Given the description of an element on the screen output the (x, y) to click on. 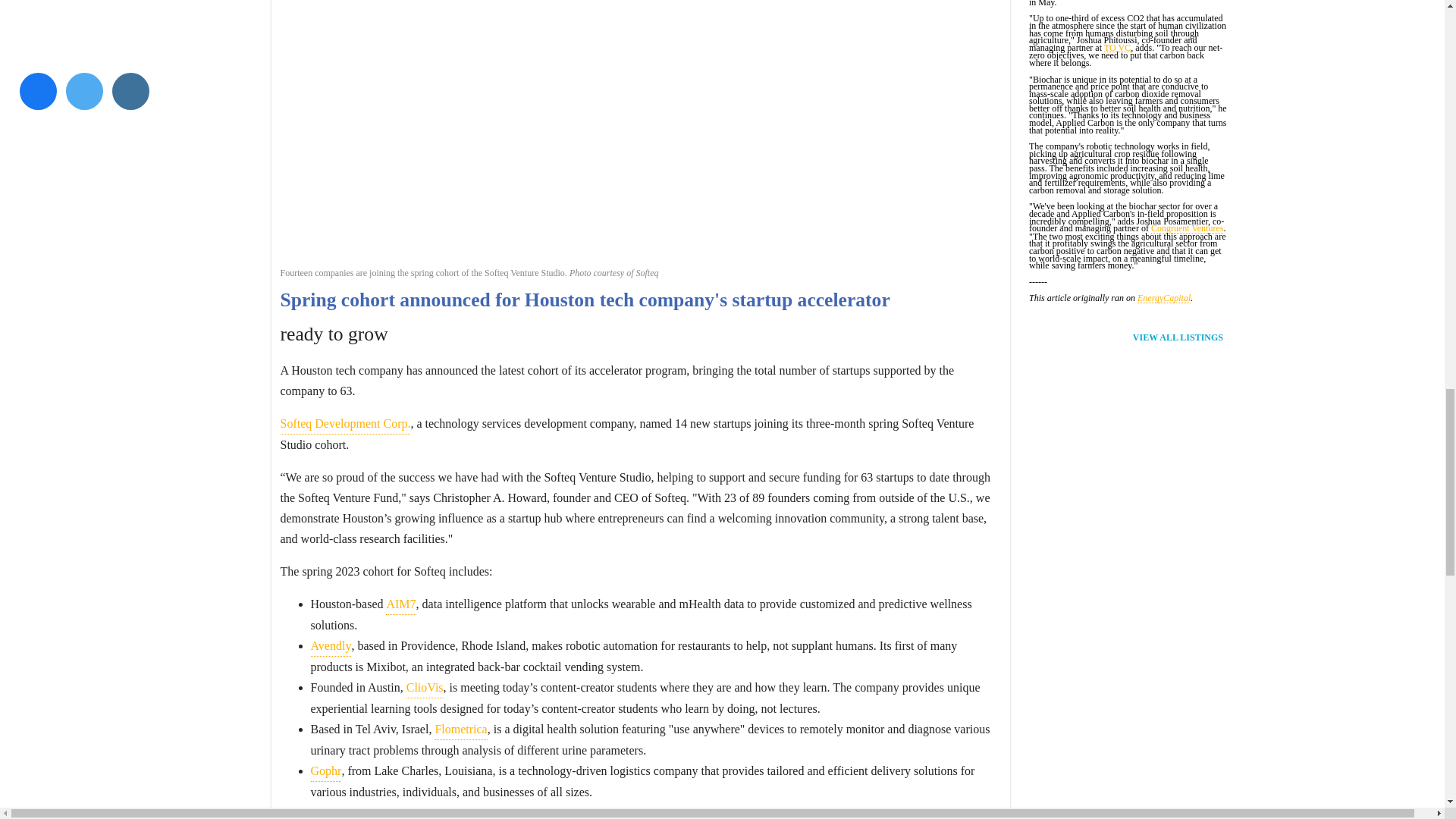
Softeq Development Corp. (345, 423)
Flometrica (459, 729)
Avendly (331, 645)
AIM7 (399, 604)
KarChing (409, 810)
Gophr (326, 771)
ClioVis (425, 687)
